Given the description of an element on the screen output the (x, y) to click on. 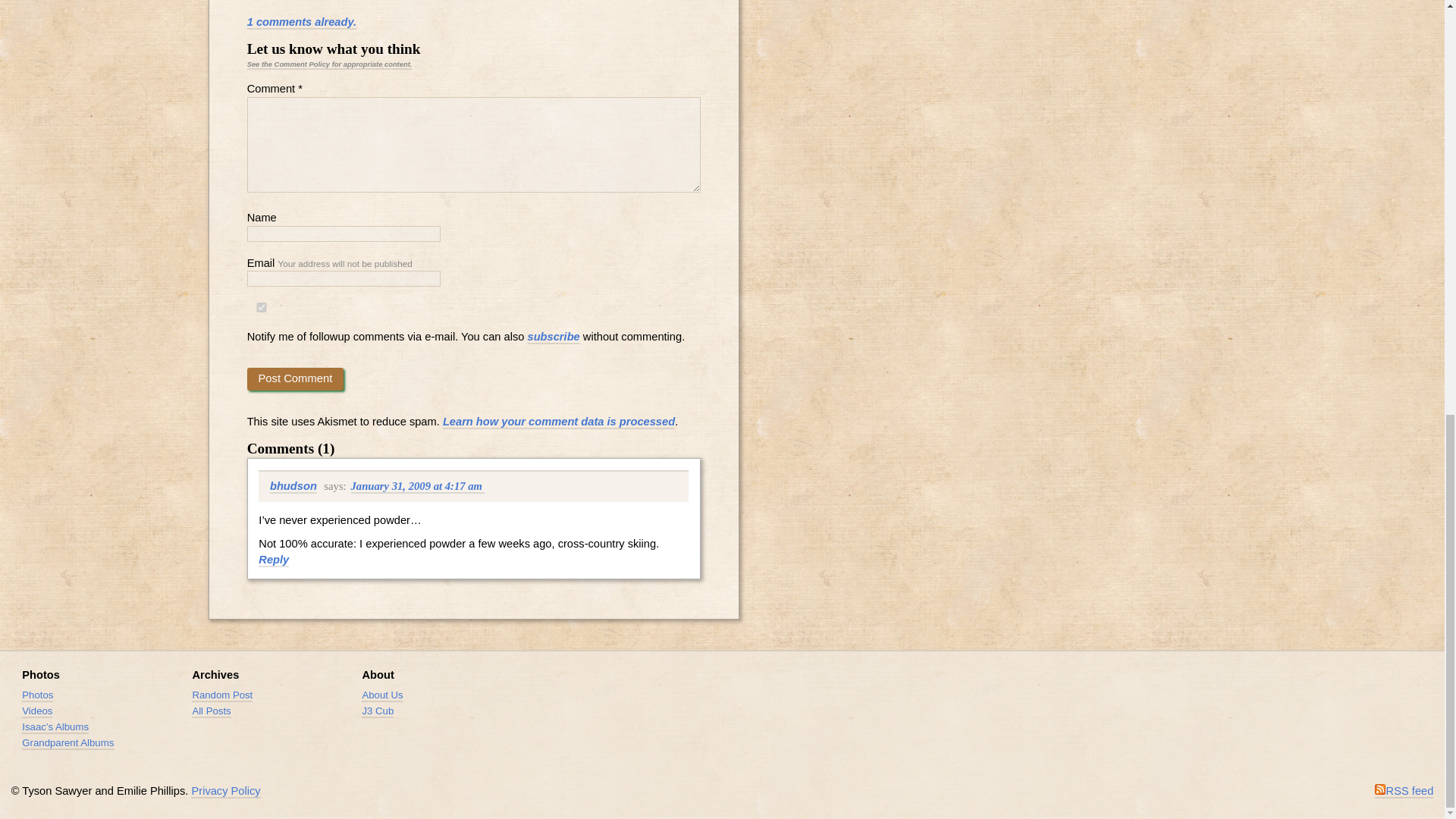
January 31, 2009 at 4:17 am (417, 486)
yes (261, 307)
See the Comment Policy for appropriate content. (329, 64)
Photos (40, 674)
Learn how your comment data is processed (558, 422)
Subscribe (1404, 791)
Post Comment (295, 378)
subscribe (553, 336)
Photos (36, 695)
1 comments already. (301, 22)
Reply (273, 560)
Post Comment (295, 378)
Videos (36, 711)
Grandparent Albums (67, 743)
Archives (215, 674)
